Given the description of an element on the screen output the (x, y) to click on. 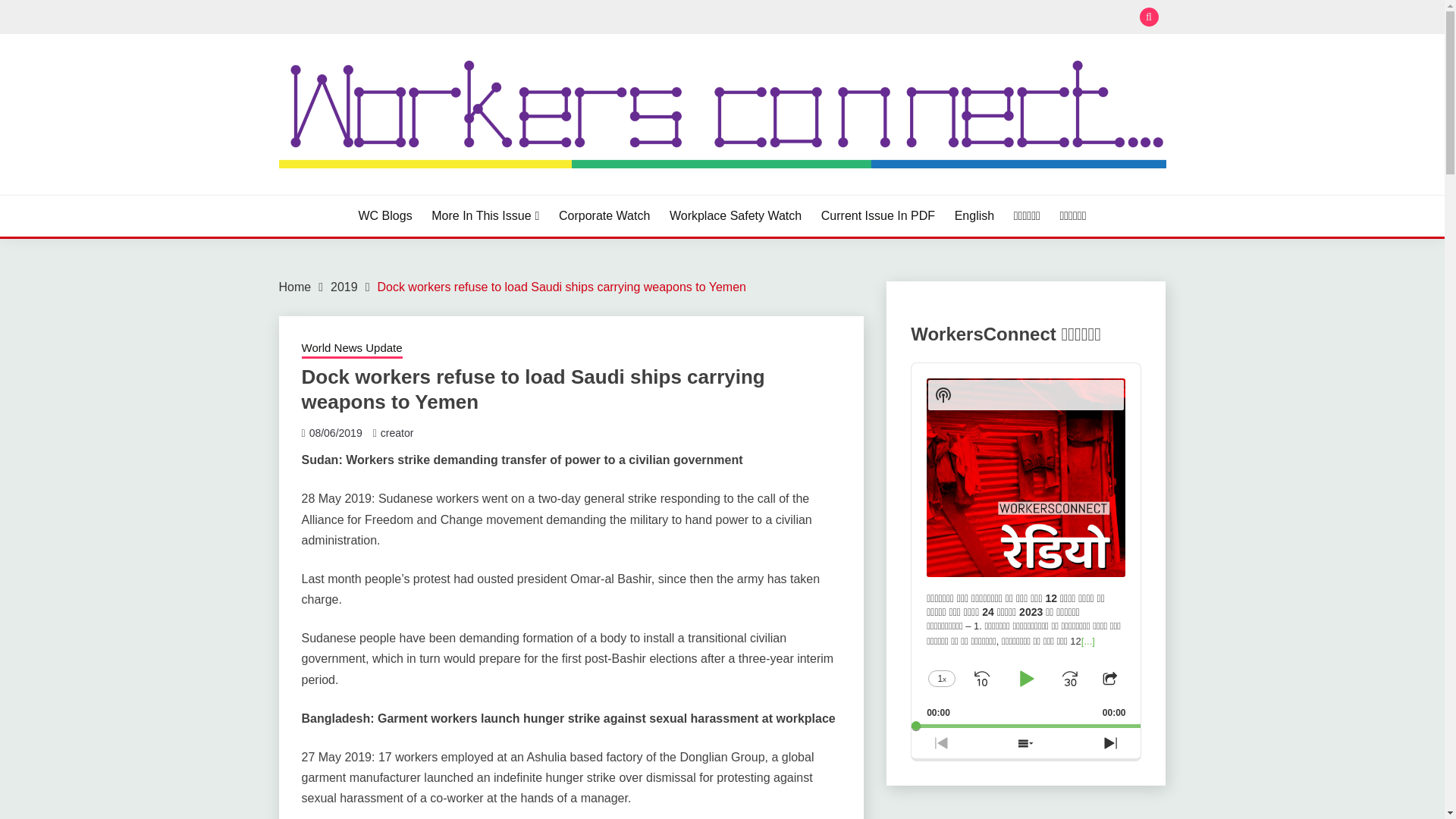
creator (396, 432)
Corporate Watch (604, 216)
More In This Issue (484, 216)
WC Blogs (385, 216)
World News Update (352, 349)
English (974, 216)
Current Issue In PDF (877, 216)
2019 (344, 286)
Home (295, 286)
Search (832, 18)
Workplace Safety Watch (735, 216)
